Given the description of an element on the screen output the (x, y) to click on. 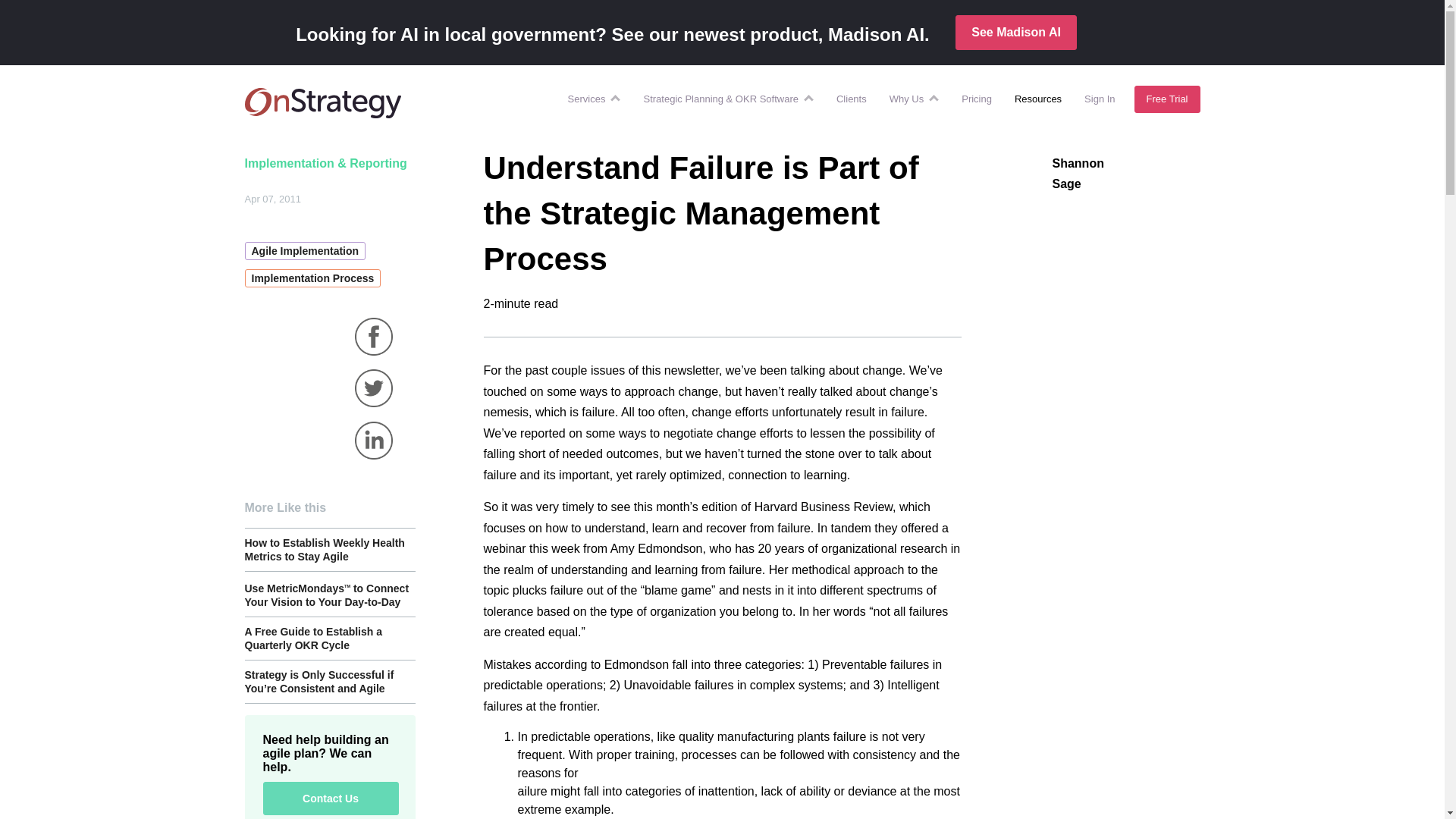
Sign In (1099, 99)
Services (587, 99)
Free Trial (1166, 99)
Free Trial (1390, 28)
Resources (1037, 99)
Why Us (906, 99)
Sign In (1314, 28)
See Madison AI (1016, 32)
Pricing (976, 99)
Clients (851, 99)
